Given the description of an element on the screen output the (x, y) to click on. 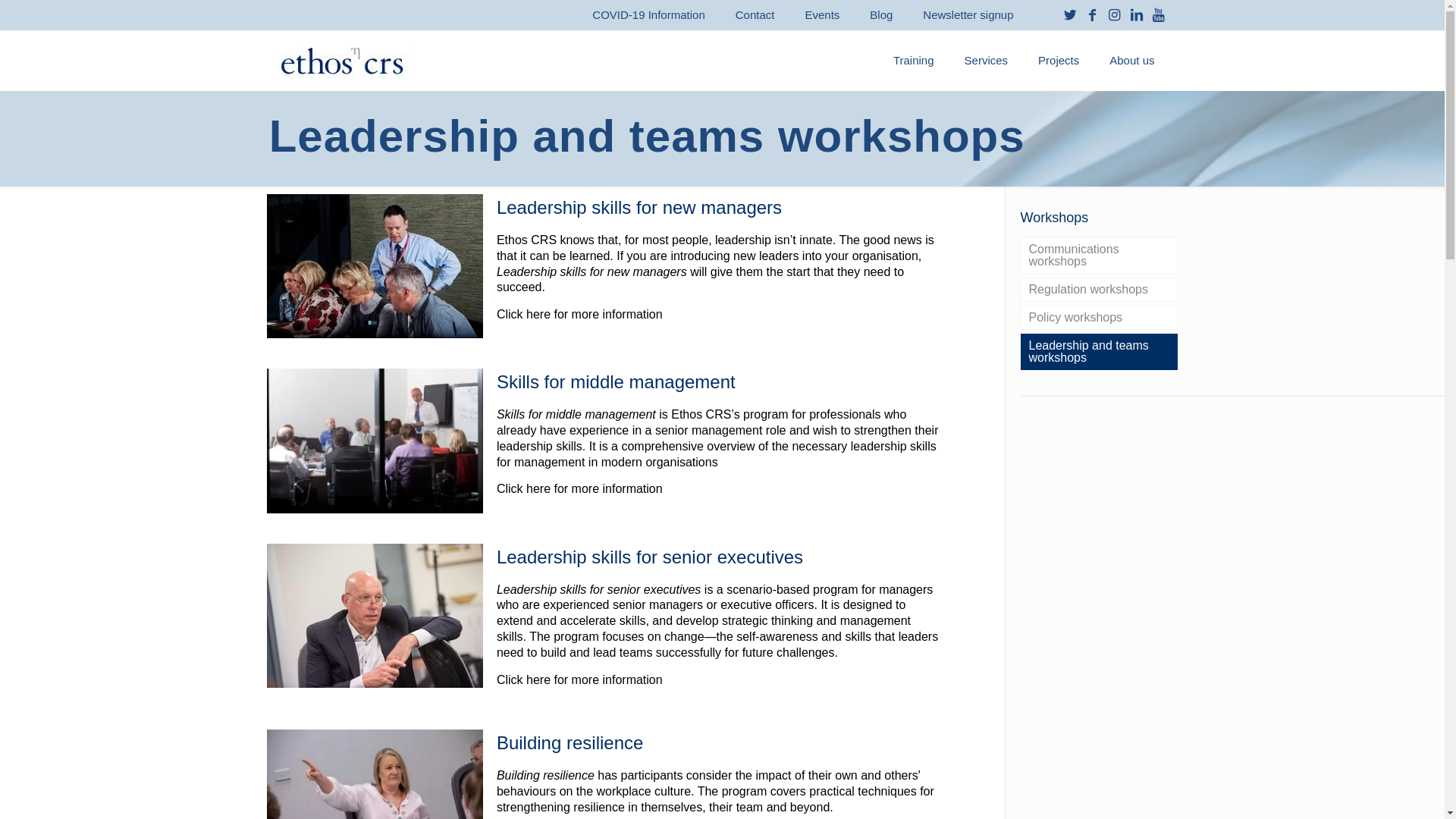
Training Element type: text (913, 60)
Regulation workshops Element type: text (1098, 289)
About us Element type: text (1131, 60)
Projects Element type: text (1058, 60)
Contact Element type: text (755, 15)
Blog Element type: text (880, 15)
Events Element type: text (821, 15)
Newsletter signup Element type: text (967, 15)
Policy workshops Element type: text (1098, 317)
Leadership and teams workshops Element type: text (1098, 351)
Services Element type: text (986, 60)
Communications workshops Element type: text (1098, 255)
COVID-19 Information Element type: text (648, 15)
